Given the description of an element on the screen output the (x, y) to click on. 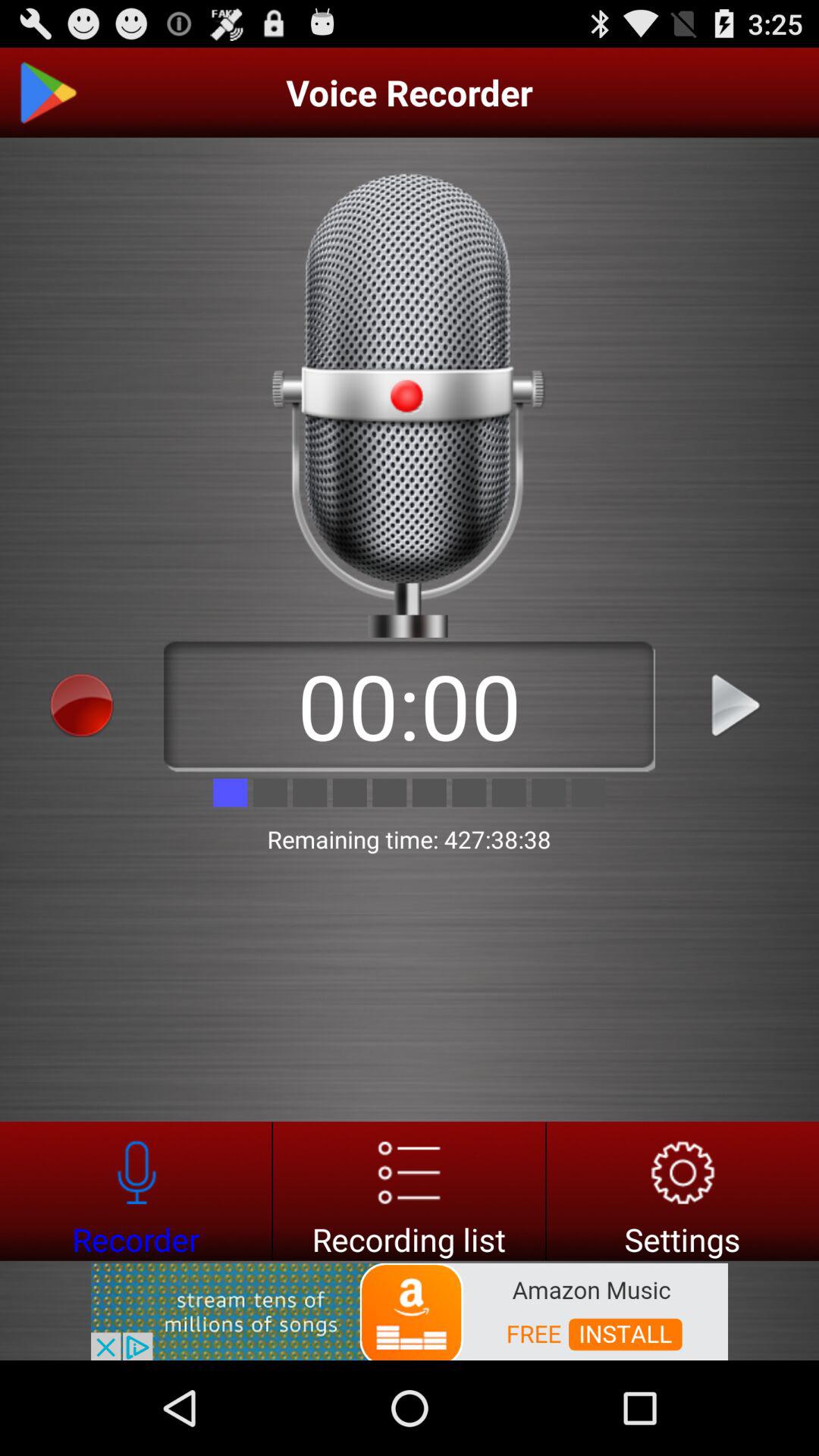
voice recorder start button (81, 705)
